Given the description of an element on the screen output the (x, y) to click on. 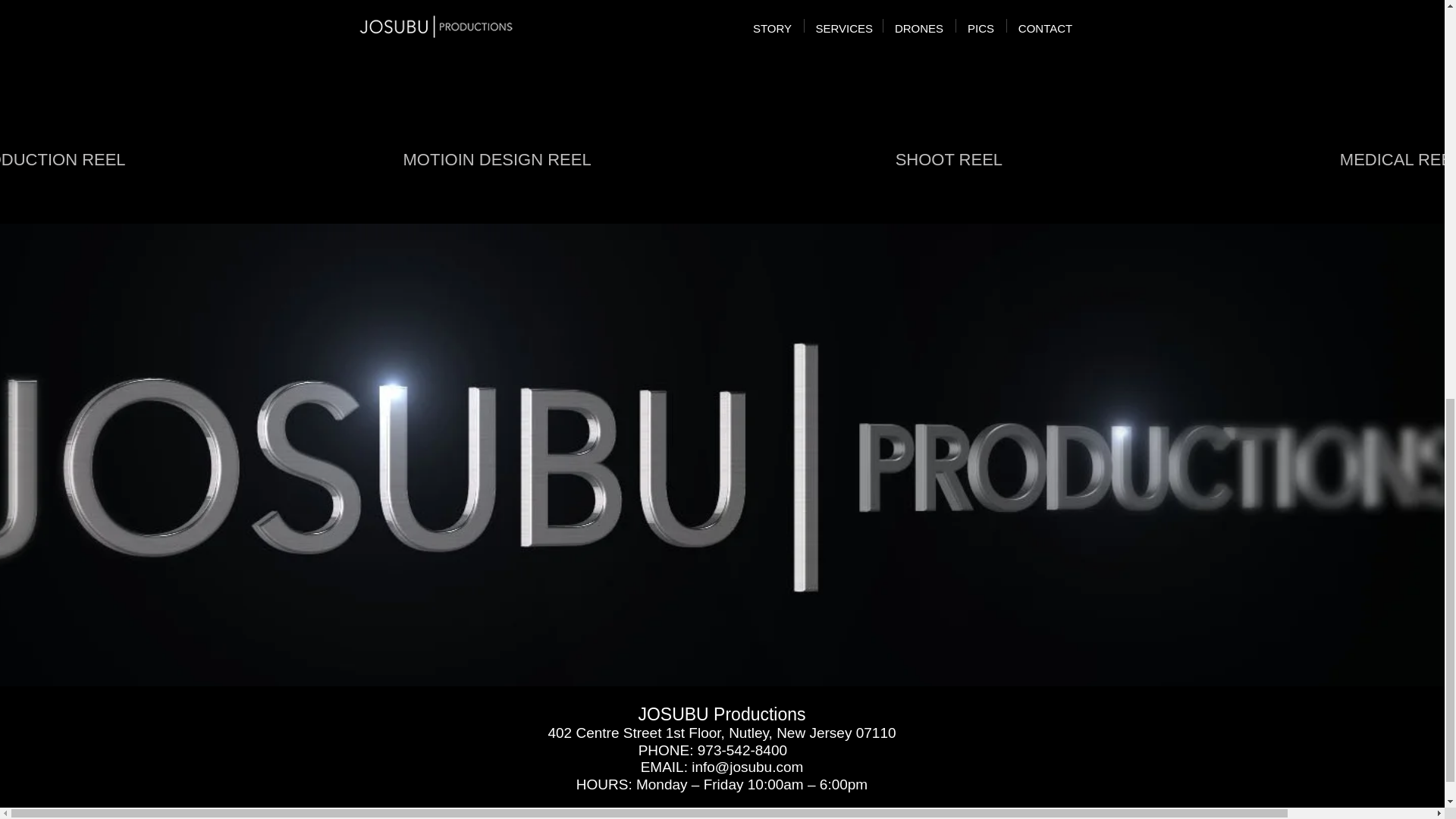
DRONES (727, 812)
SERVICES (627, 812)
PICS (814, 812)
STORY (530, 812)
CONTACT (904, 812)
MOTIOIN DESIGN REEL (496, 102)
PRODUCTION REEL (133, 102)
SHOOT REEL (949, 102)
